Given the description of an element on the screen output the (x, y) to click on. 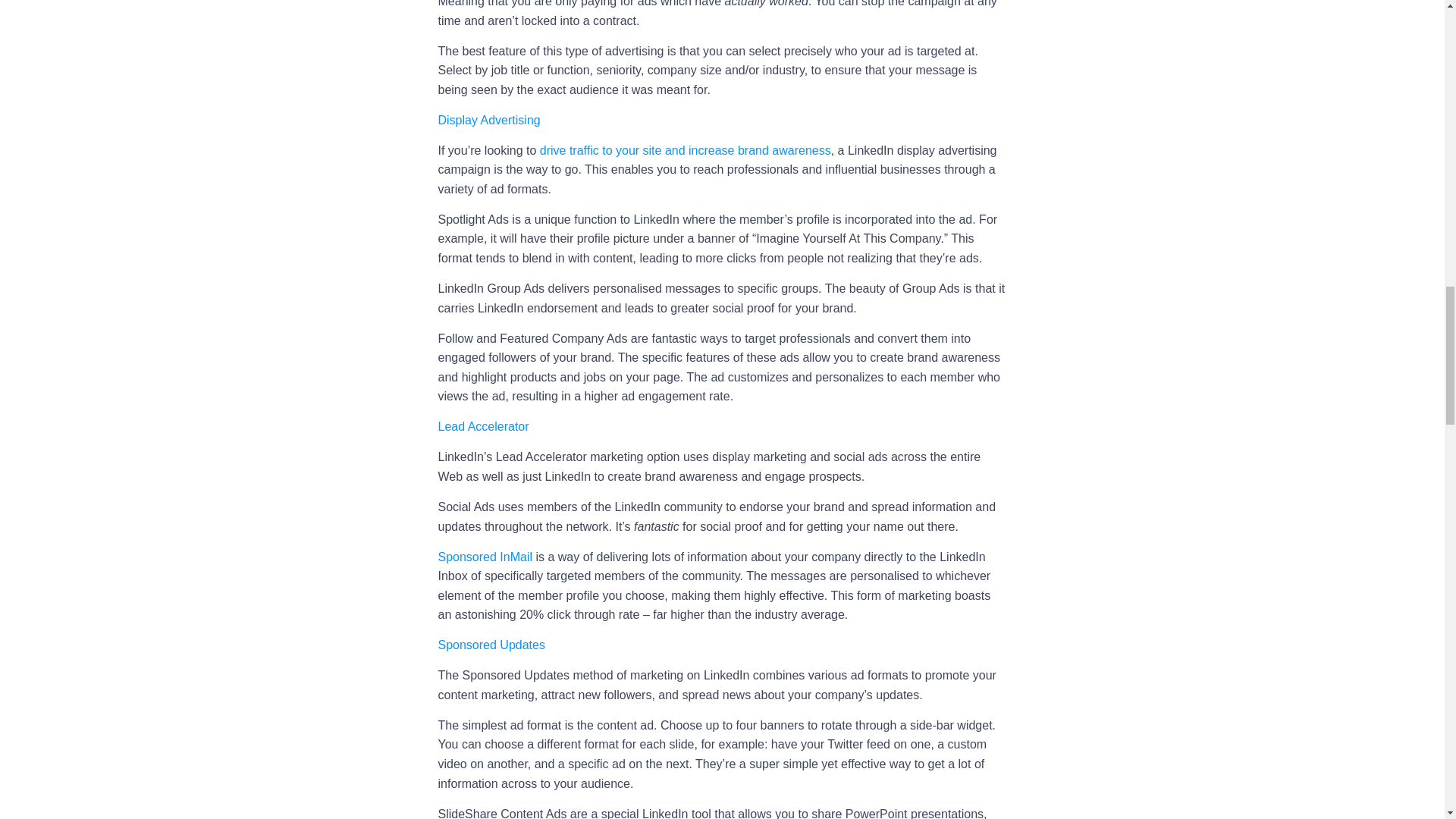
drive traffic to your site and increase brand awareness (685, 150)
Sponsored InMail (485, 556)
Sponsored Updates (491, 644)
Display Advertising (489, 119)
Lead Accelerator (483, 426)
